Given the description of an element on the screen output the (x, y) to click on. 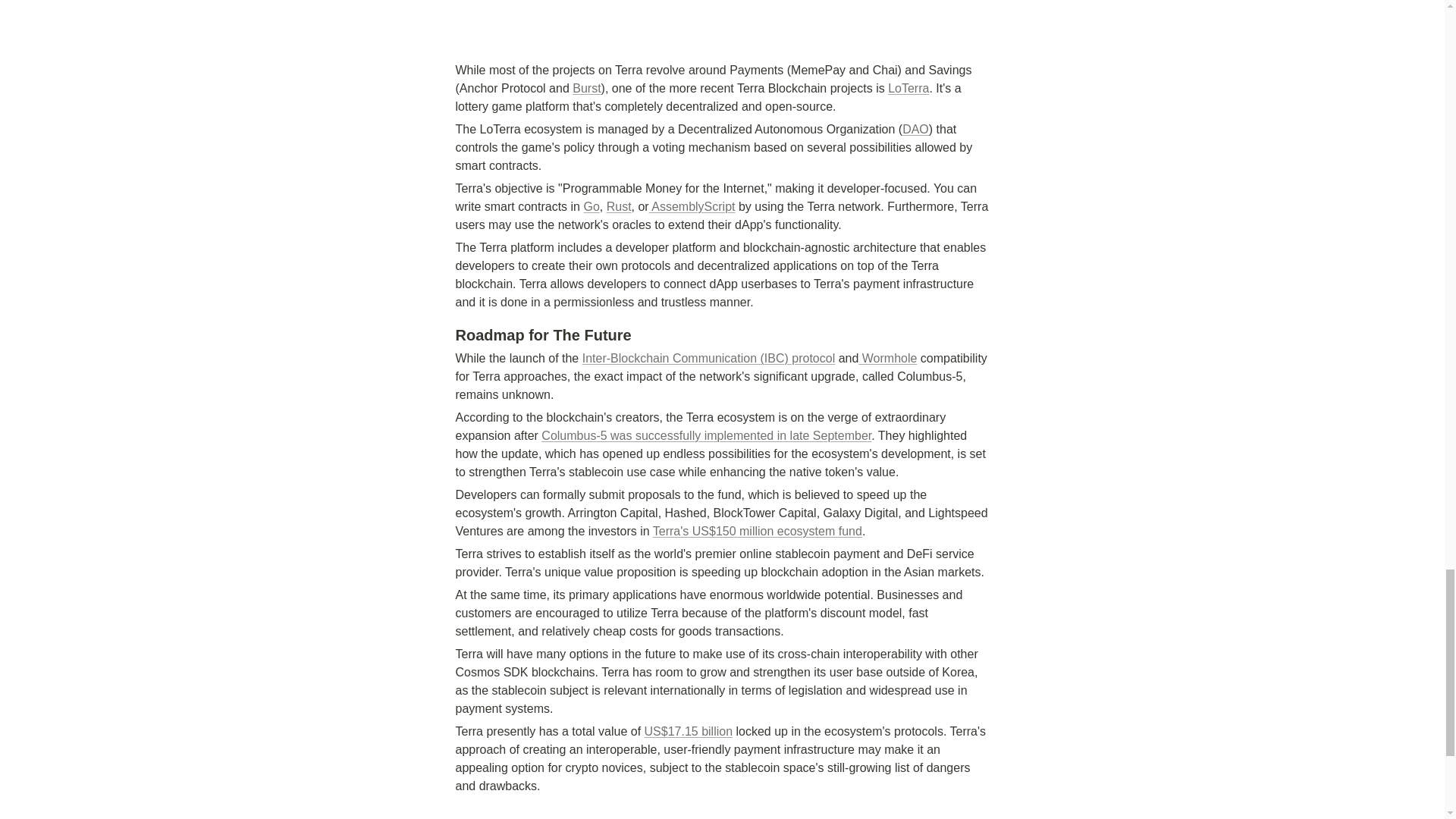
Go (590, 205)
 Wormhole (888, 358)
Rust (619, 205)
DAO (915, 128)
Columbus-5 was successfully implemented in late September (705, 435)
 AssemblyScript (692, 205)
LoTerra (908, 88)
Burst (585, 88)
